Given the description of an element on the screen output the (x, y) to click on. 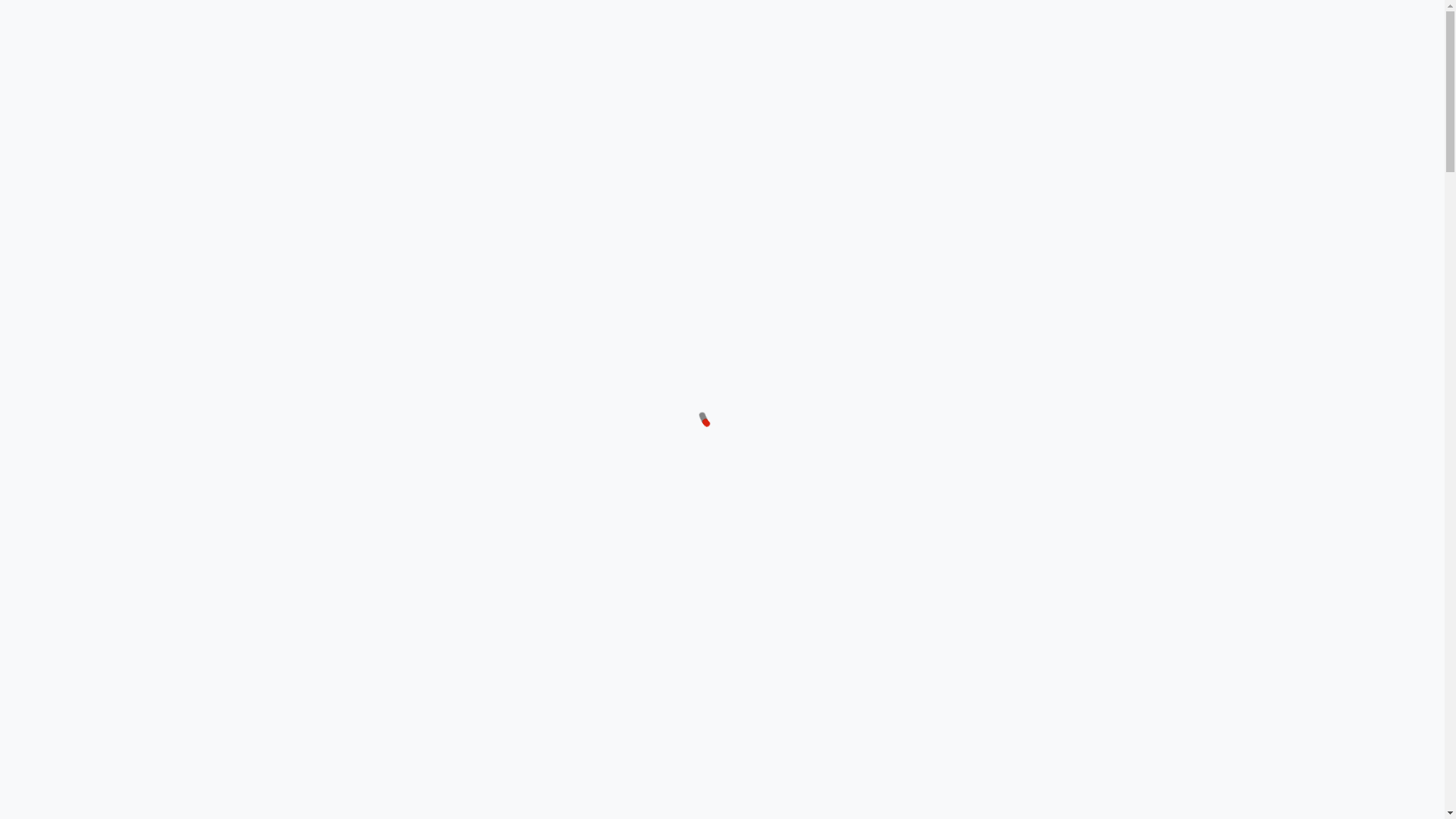
+375 29 628 53 03 Element type: text (595, 45)
+375 29 570 00 07 Element type: text (845, 45)
